Given the description of an element on the screen output the (x, y) to click on. 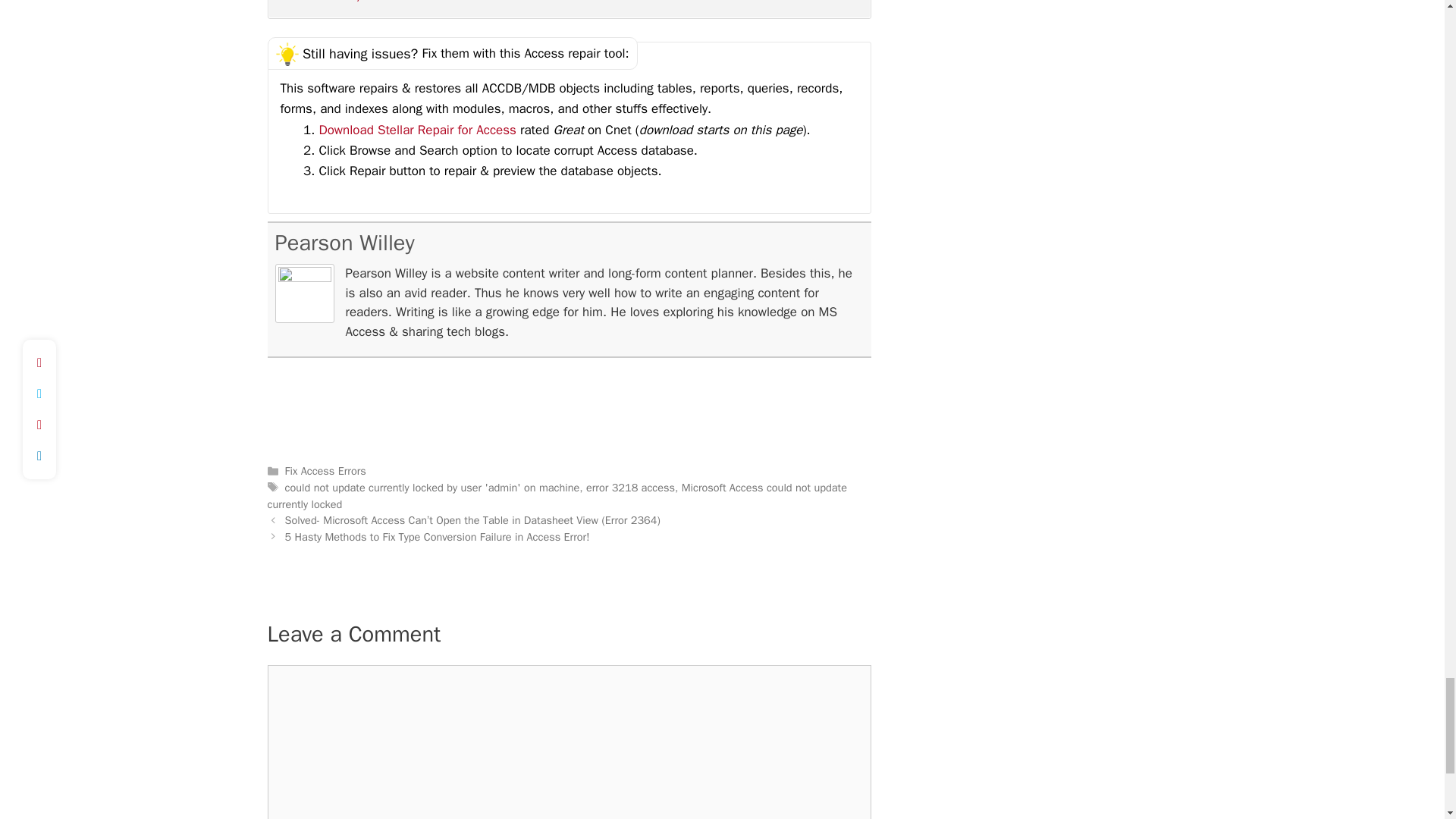
error 3218 access (630, 487)
Microsoft Access could not update currently locked (555, 495)
Download Stellar Repair for Access (418, 130)
could not update currently locked by user 'admin' on machine (432, 487)
Fix Access Errors (325, 470)
Pearson Willey (344, 243)
